Given the description of an element on the screen output the (x, y) to click on. 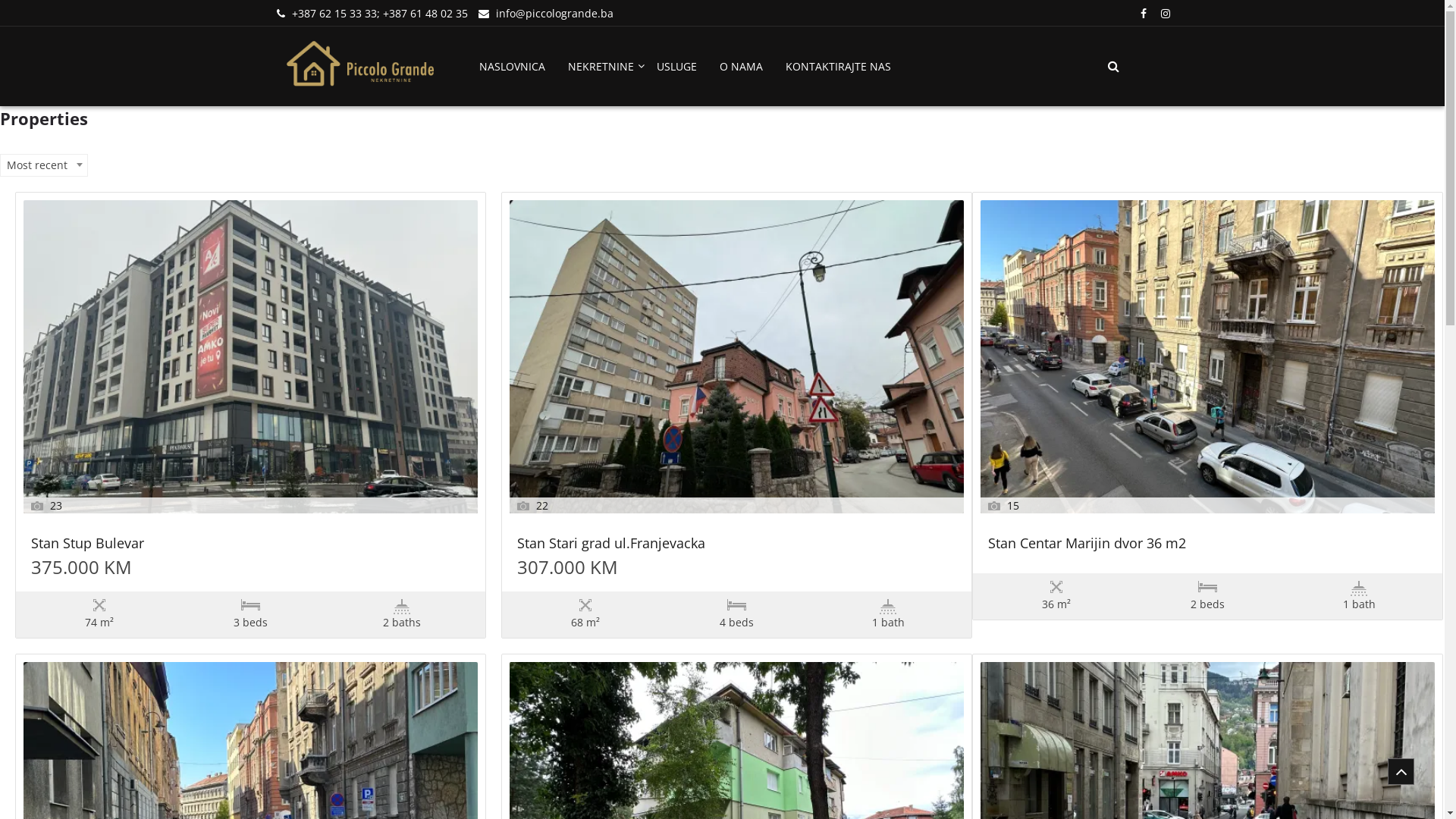
23 Element type: text (250, 356)
Stan Centar Marijin dvor 36 m2 Element type: text (1207, 547)
22 Element type: text (736, 356)
O NAMA Element type: text (740, 66)
Nekretnine Piccolo Grande Element type: text (392, 102)
NEKRETNINE Element type: text (600, 66)
Stan Stup Bulevar Element type: text (250, 547)
Stan Stari grad ul.Franjevacka Element type: text (736, 547)
+387 62 15 33 33; +387 61 48 02 35 Element type: text (379, 13)
NASLOVNICA Element type: text (512, 66)
USLUGE Element type: text (676, 66)
info@piccologrande.ba Element type: text (554, 13)
15 Element type: text (1207, 356)
KONTAKTIRAJTE NAS Element type: text (838, 66)
